Given the description of an element on the screen output the (x, y) to click on. 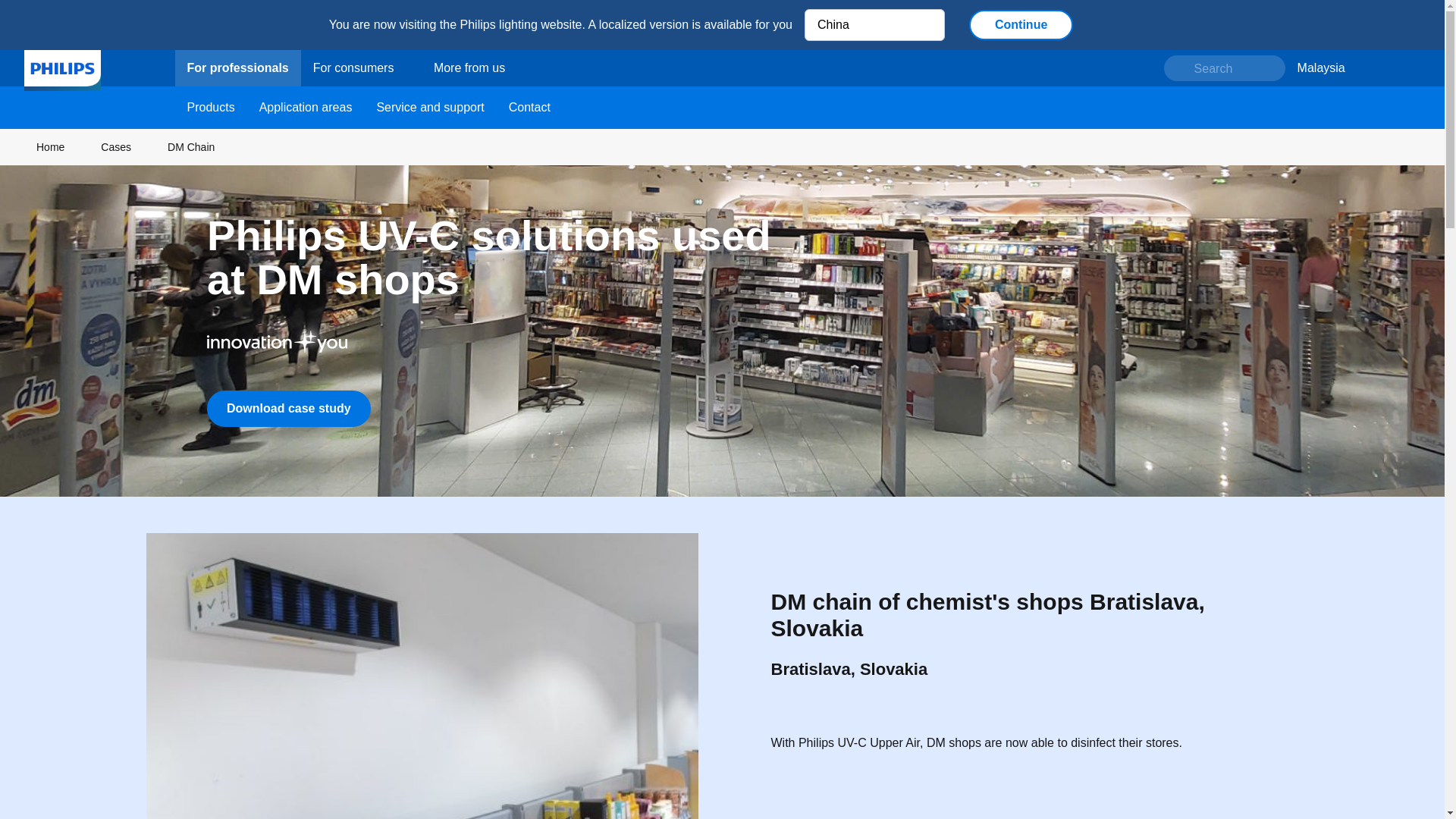
For professionals (237, 67)
Continue (1021, 24)
For consumers (361, 67)
Search (1224, 67)
More from us (469, 67)
Search (1224, 67)
